Given the description of an element on the screen output the (x, y) to click on. 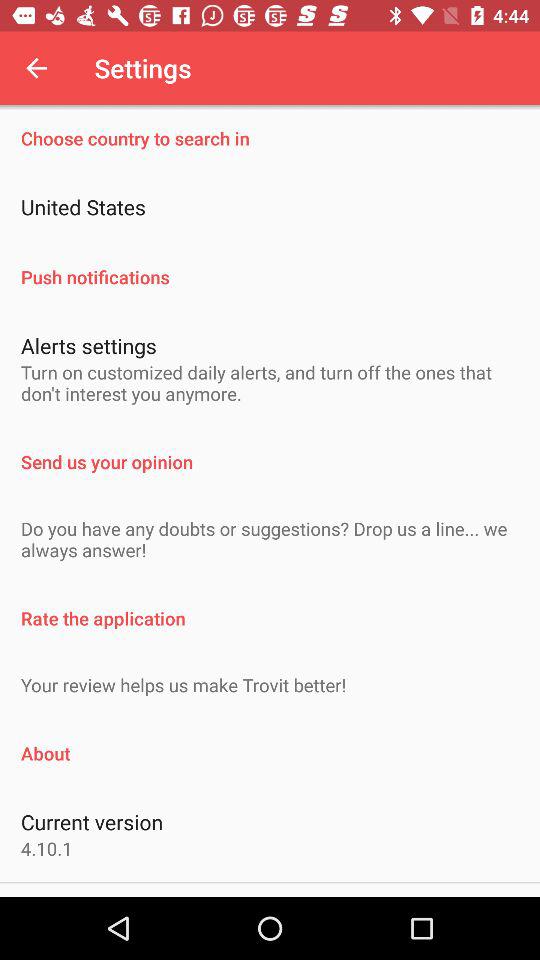
open app to the left of settings app (36, 68)
